Given the description of an element on the screen output the (x, y) to click on. 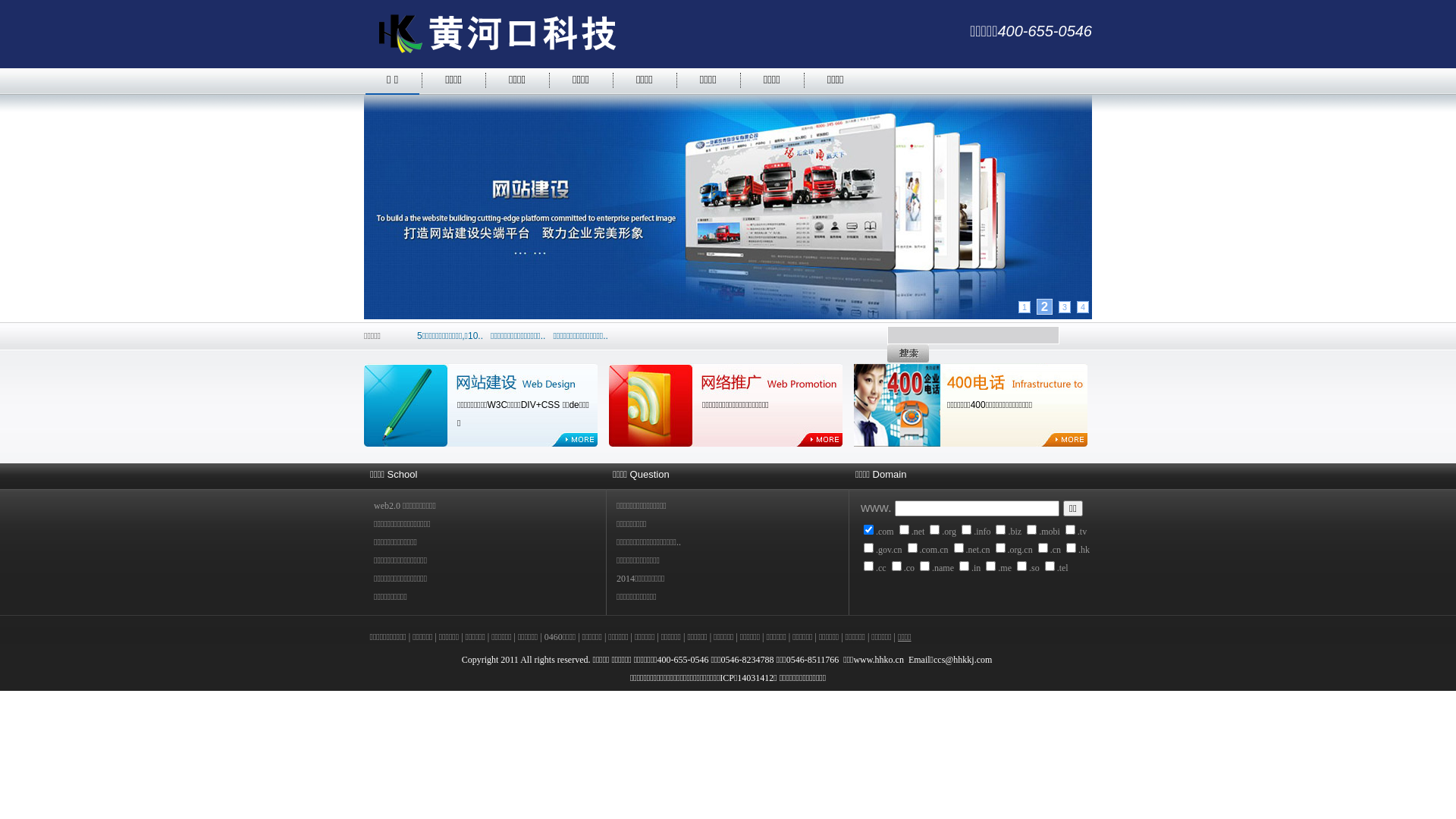
ccs@hhkkj.com  Element type: text (963, 659)
